Given the description of an element on the screen output the (x, y) to click on. 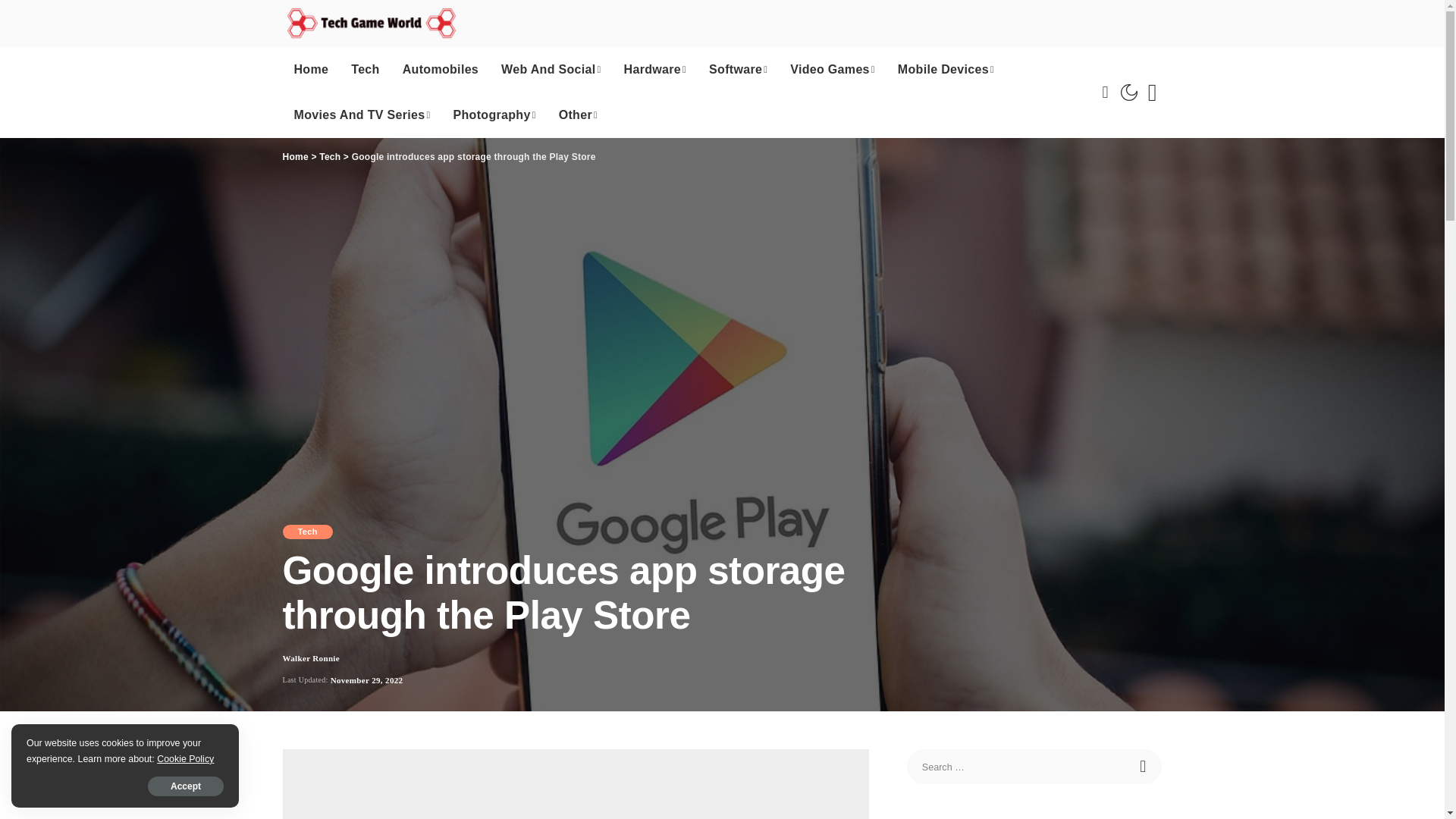
Search (1143, 766)
Search (1151, 92)
Search (1143, 766)
